Given the description of an element on the screen output the (x, y) to click on. 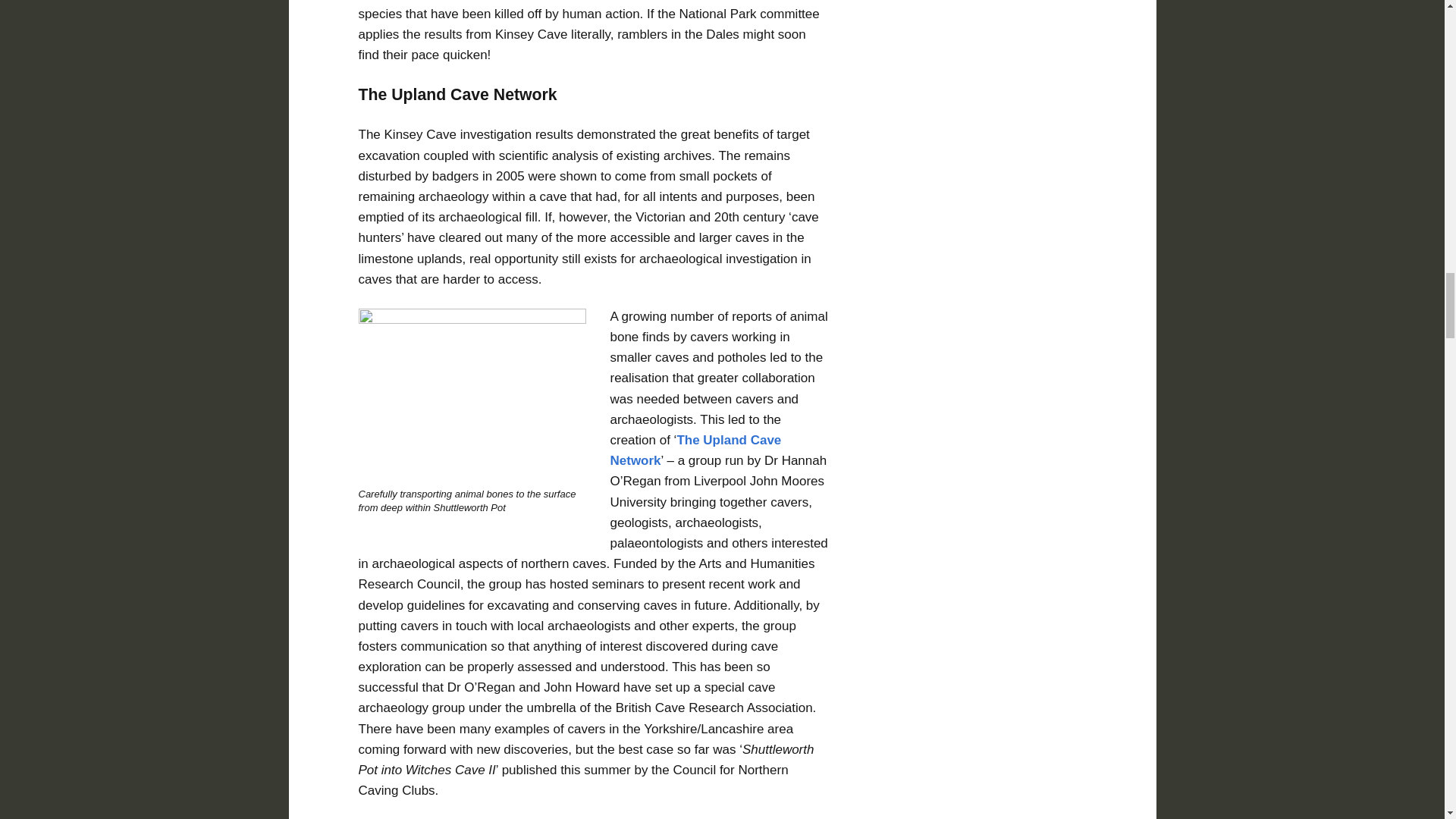
The Upland Cave Network (695, 450)
Shuttleworth Pot (471, 393)
